Given the description of an element on the screen output the (x, y) to click on. 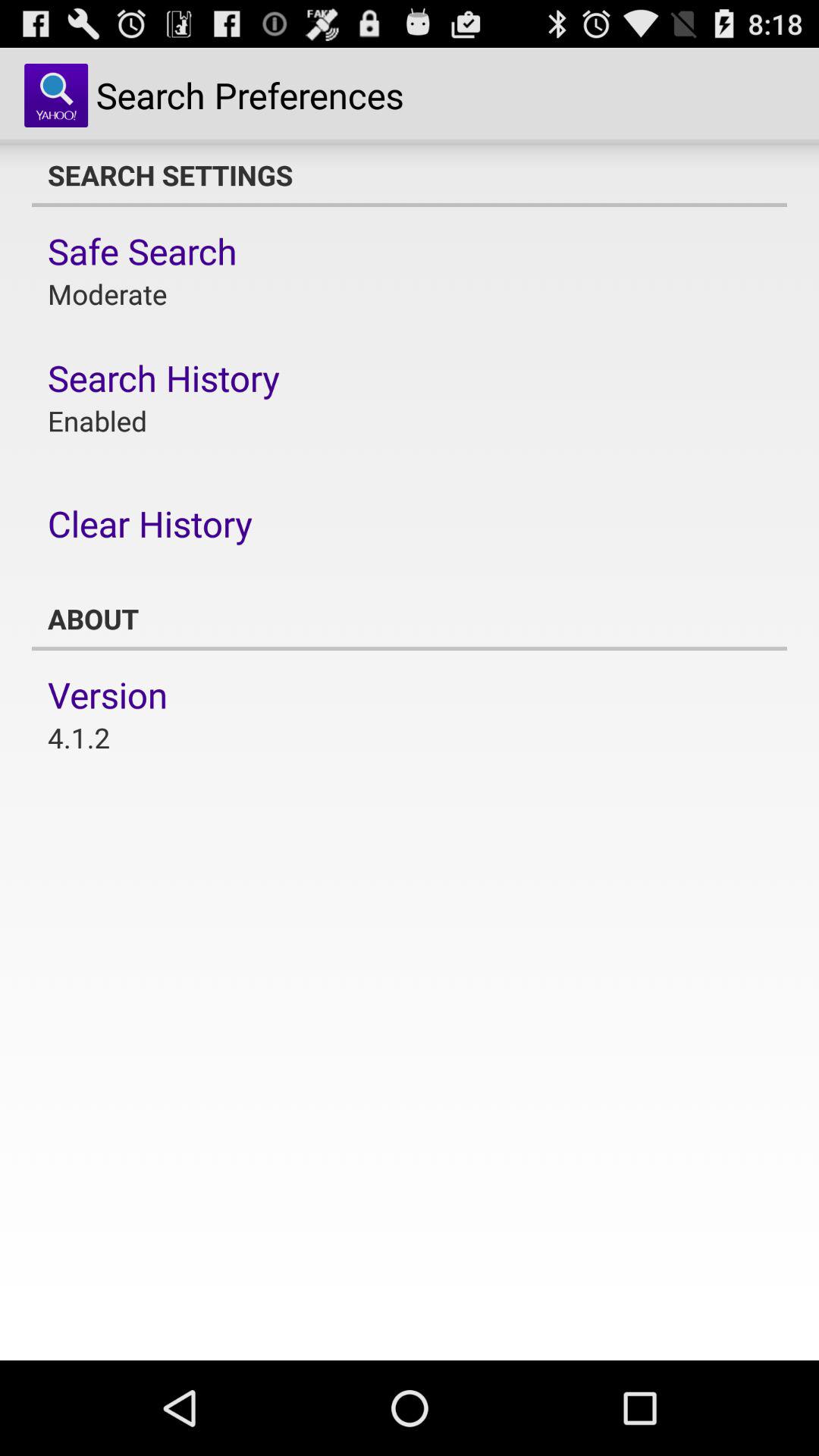
click the item above the moderate icon (142, 250)
